Given the description of an element on the screen output the (x, y) to click on. 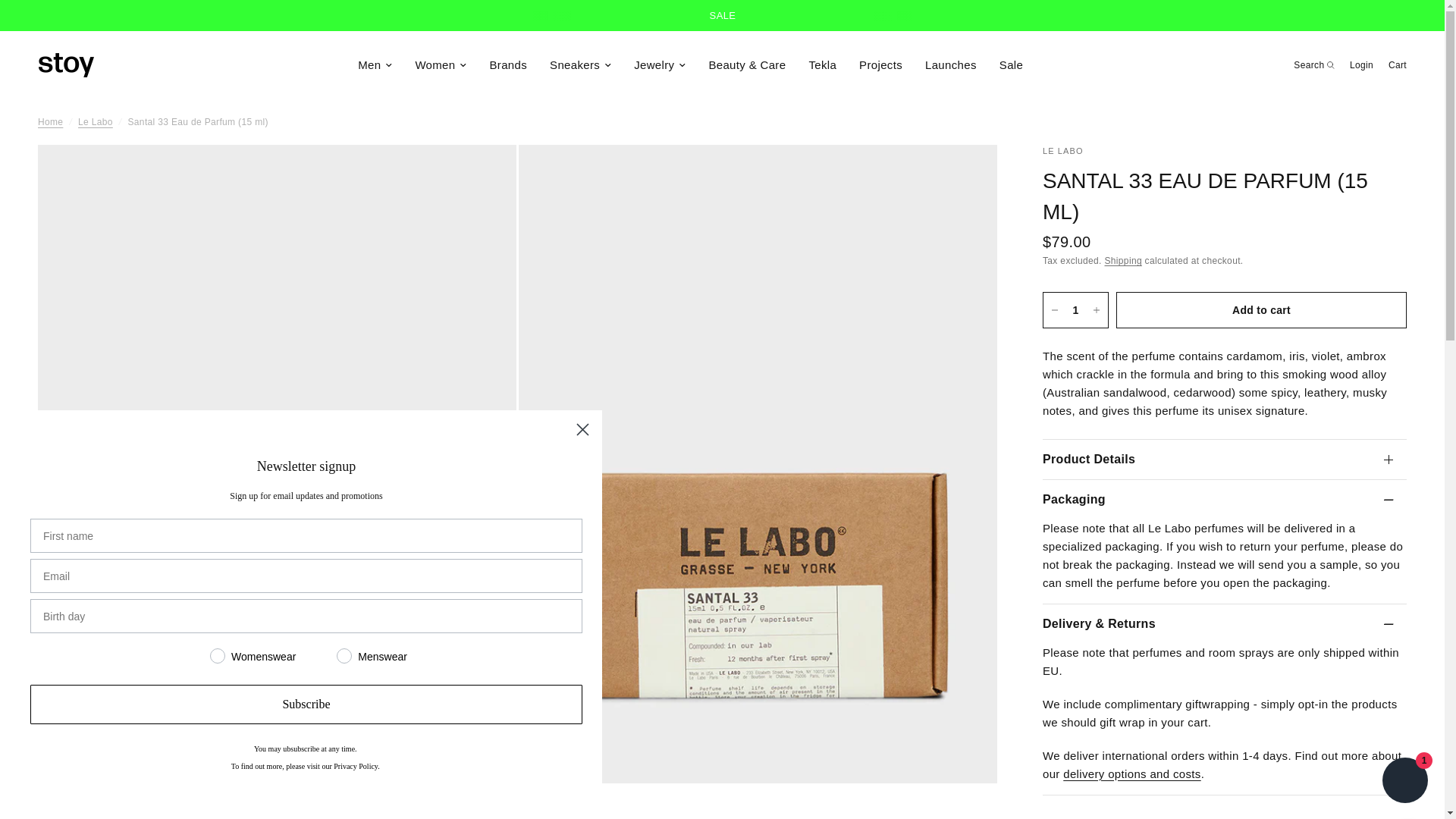
Close dialog 15 (582, 429)
on (321, 655)
SALE (722, 15)
on (194, 655)
